Given the description of an element on the screen output the (x, y) to click on. 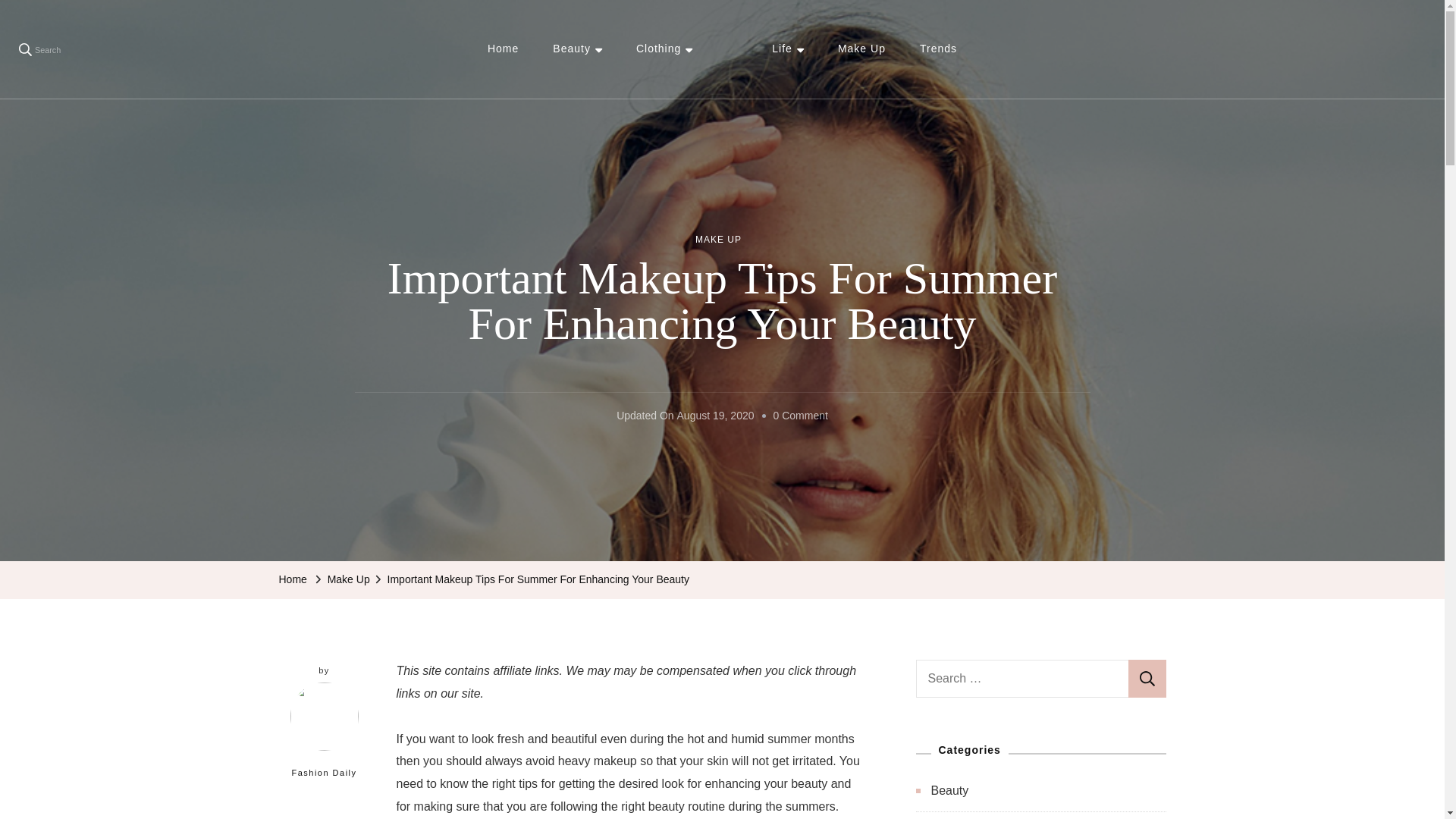
Life (787, 49)
Search (39, 48)
Clothing (664, 49)
The Fashion Daily (819, 70)
Search (1147, 678)
Home (502, 49)
Search (1147, 678)
Make Up (861, 49)
Beauty (577, 49)
Trends (938, 49)
